Given the description of an element on the screen output the (x, y) to click on. 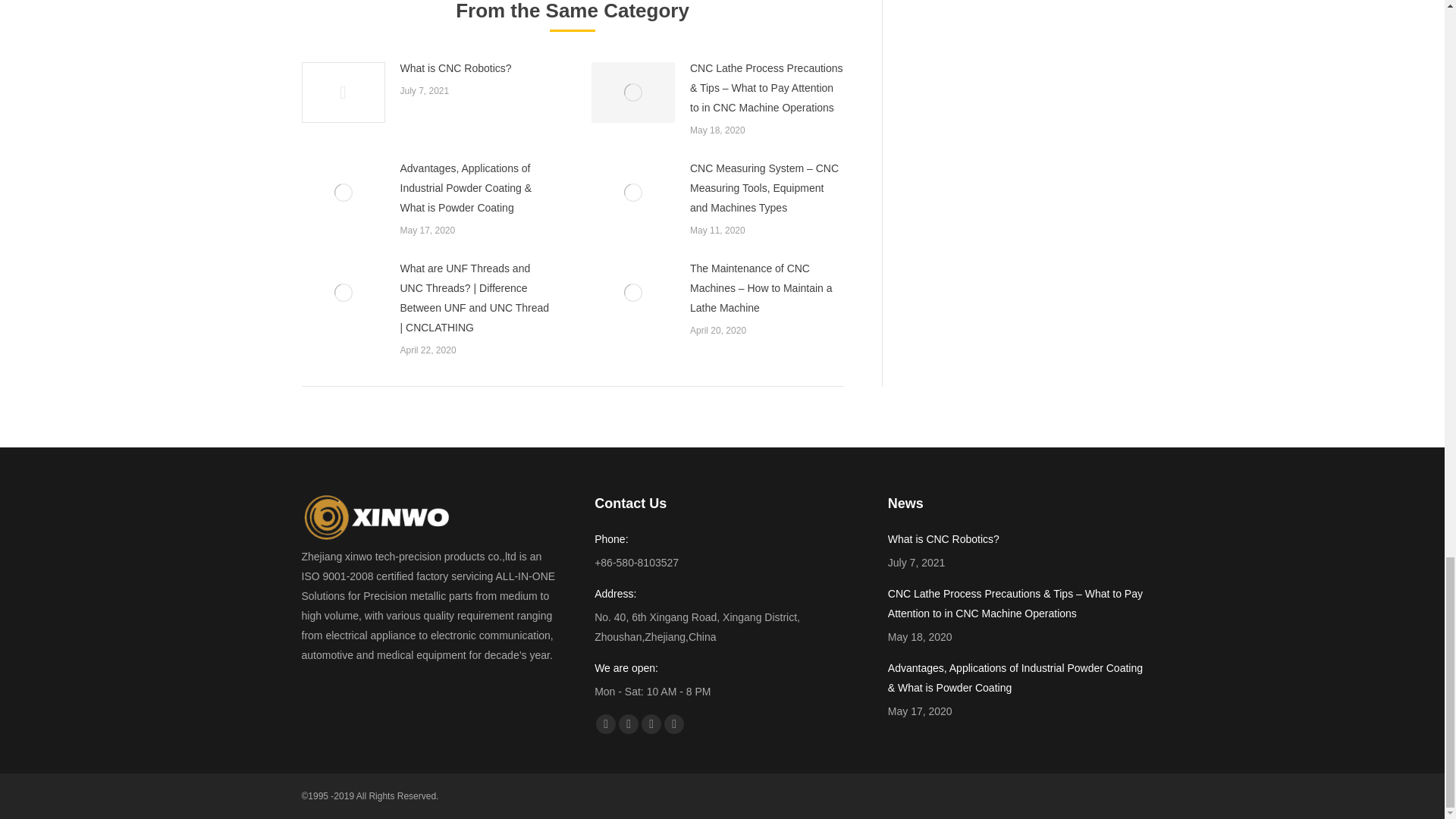
Linkedin page opens in new window (651, 723)
YouTube page opens in new window (628, 723)
Facebook page opens in new window (605, 723)
Instagram page opens in new window (673, 723)
